Given the description of an element on the screen output the (x, y) to click on. 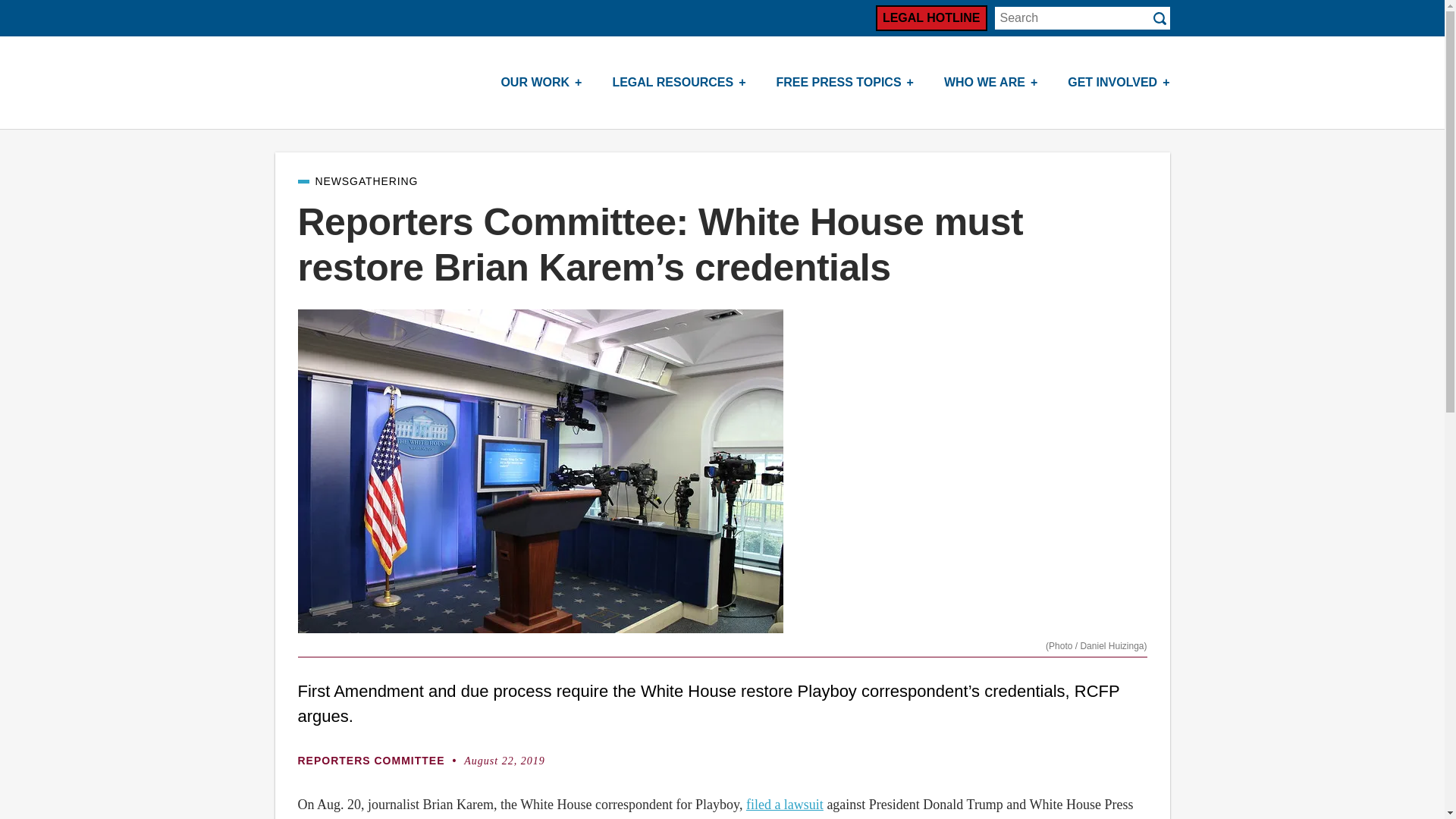
WHO WE ARE (990, 81)
FREE PRESS TOPICS (844, 81)
GET INVOLVED (1118, 81)
Posts by Reporters Committee (378, 760)
OUR WORK (540, 81)
Submit (1159, 18)
LEGAL RESOURCES (678, 81)
Reporters Committee for Freedom of the Press homepage (342, 82)
LEGAL HOTLINE (931, 17)
